Given the description of an element on the screen output the (x, y) to click on. 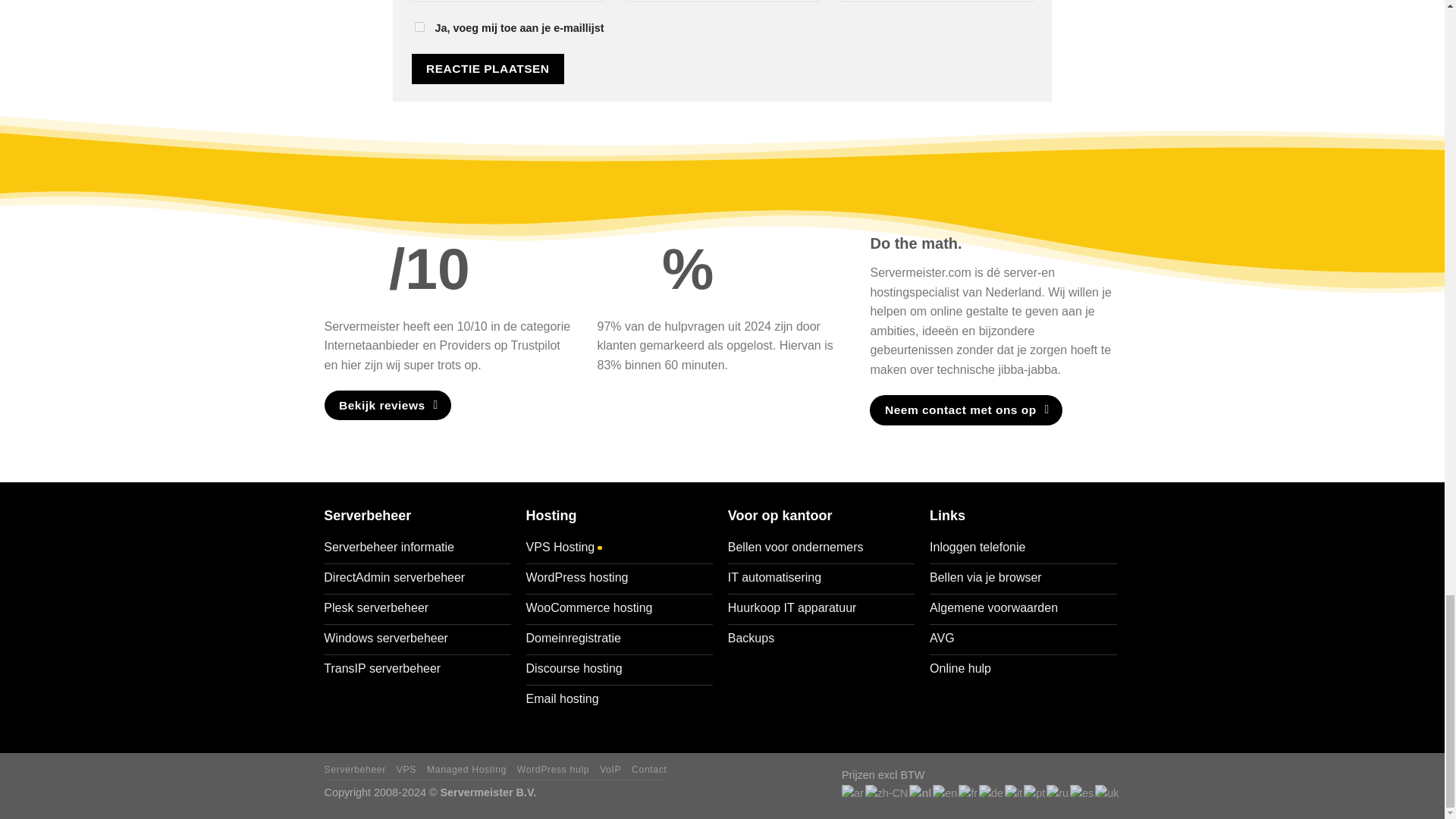
Neem contact met ons op (965, 409)
1 (418, 26)
German (991, 792)
Italian (1013, 792)
Reactie plaatsen (487, 68)
English (945, 792)
Reactie plaatsen (487, 68)
Arabic (852, 792)
Dutch (920, 792)
French (968, 792)
Bekijk reviews (387, 405)
Serverbeheer informatie (417, 548)
